Given the description of an element on the screen output the (x, y) to click on. 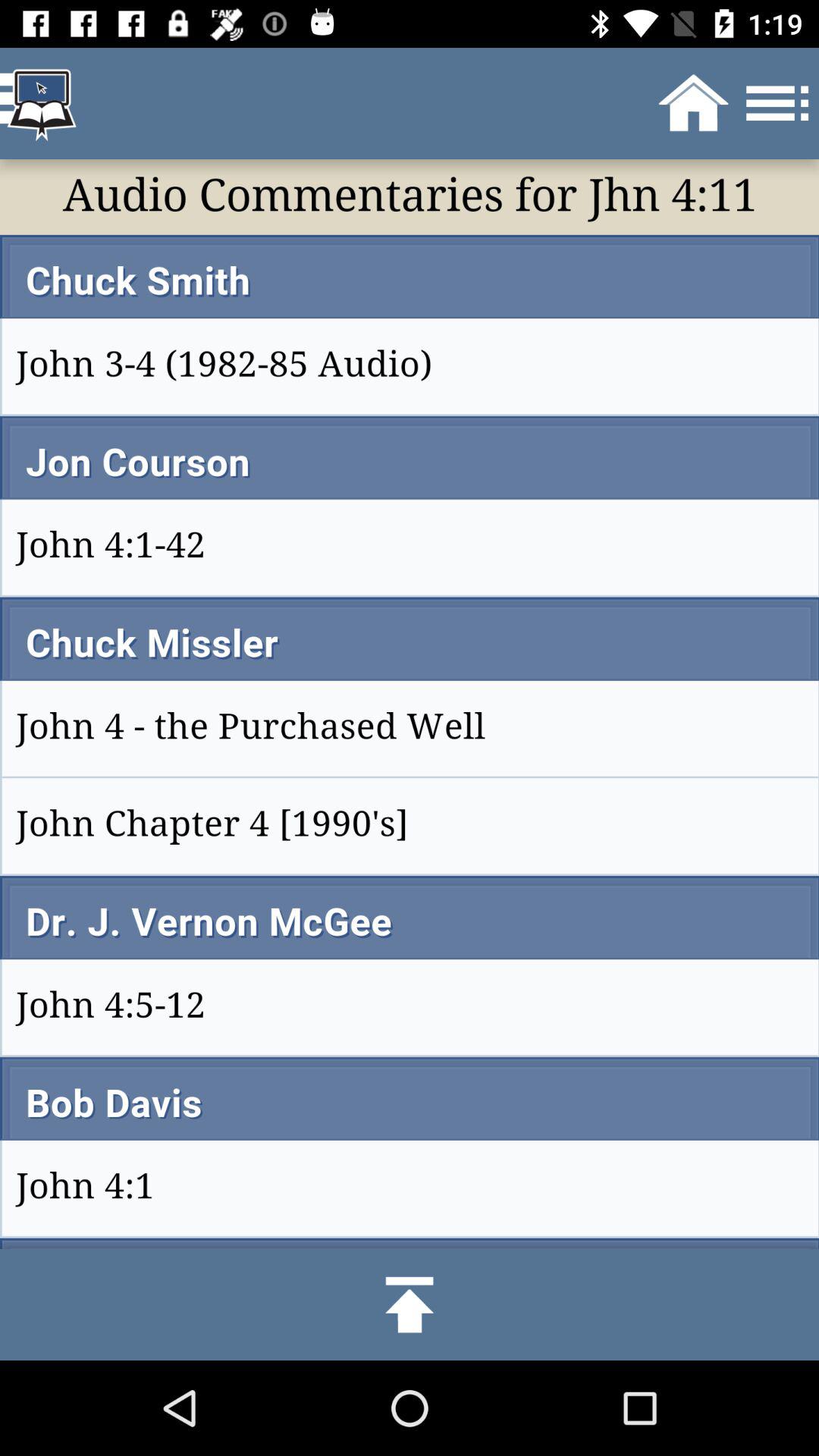
audio commentaries (409, 703)
